Given the description of an element on the screen output the (x, y) to click on. 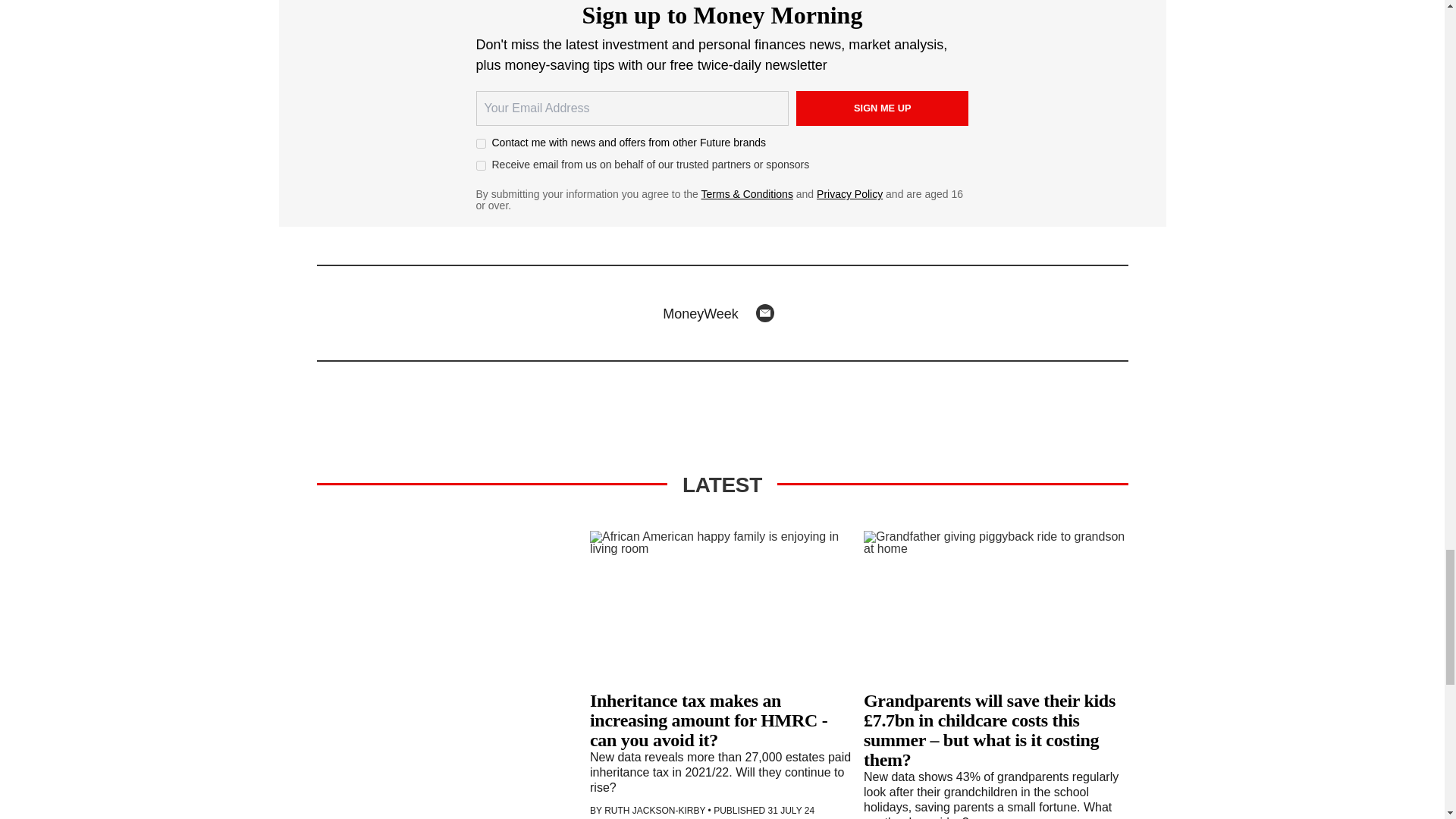
Sign me up (882, 108)
on (481, 165)
on (481, 143)
